Given the description of an element on the screen output the (x, y) to click on. 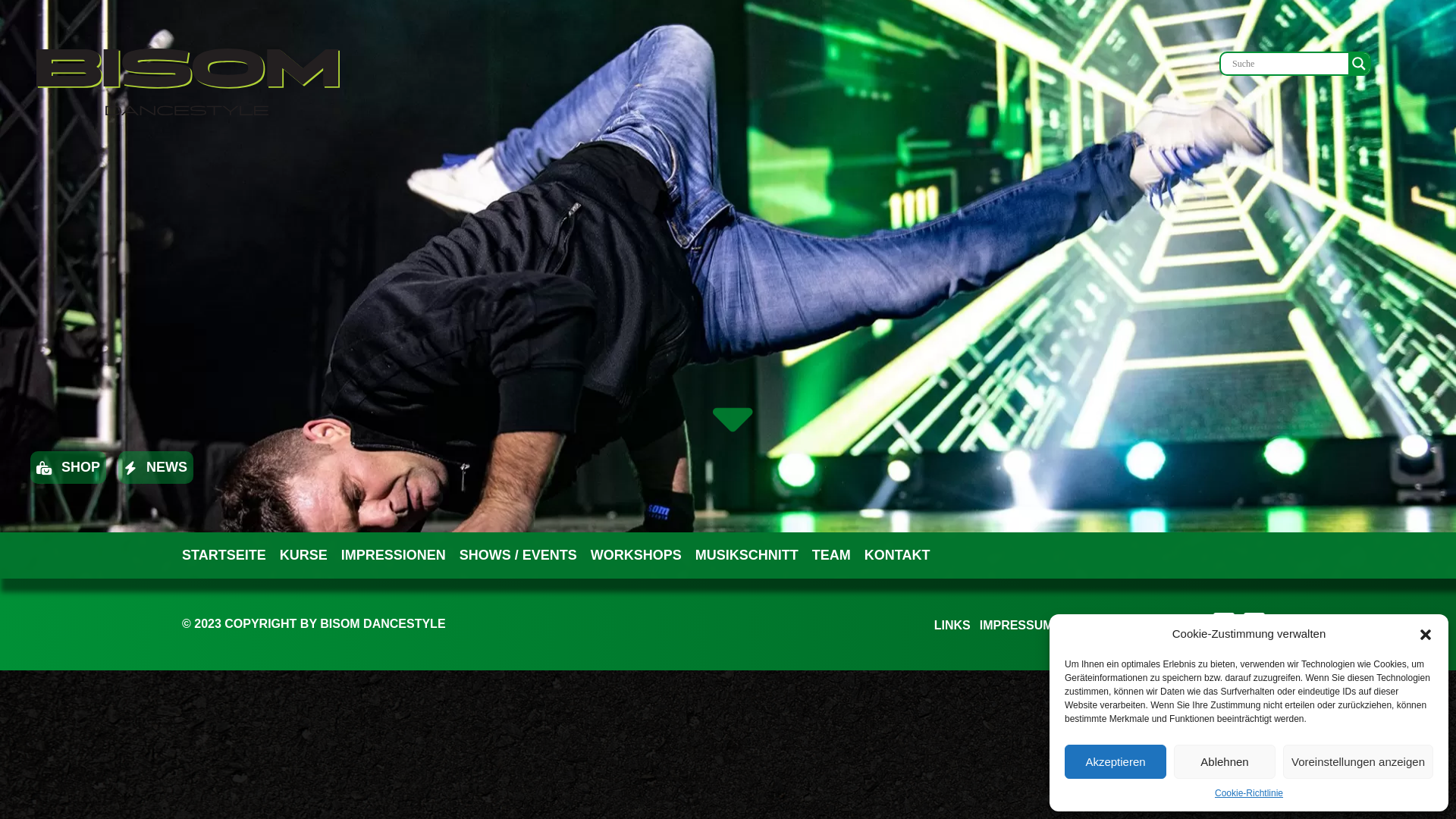
SHOP Element type: text (62, 467)
STARTSEITE Element type: text (224, 554)
KONTAKT Element type: text (897, 554)
Ablehnen Element type: text (1224, 761)
WORKSHOPS Element type: text (635, 554)
Cookie-Richtlinie Element type: text (1248, 793)
KURSE Element type: text (303, 554)
Akzeptieren Element type: text (1115, 761)
MUSIKSCHNITT Element type: text (746, 554)
IMPRESSUM Element type: text (1016, 624)
Voreinstellungen anzeigen Element type: text (1358, 761)
STANDORTE Element type: text (1099, 624)
SHOWS / EVENTS Element type: text (518, 554)
NEWS Element type: text (149, 467)
IMPRESSIONEN Element type: text (393, 554)
LINKS Element type: text (952, 624)
TEAM Element type: text (831, 554)
KONTAKT Element type: text (1174, 624)
